Given the description of an element on the screen output the (x, y) to click on. 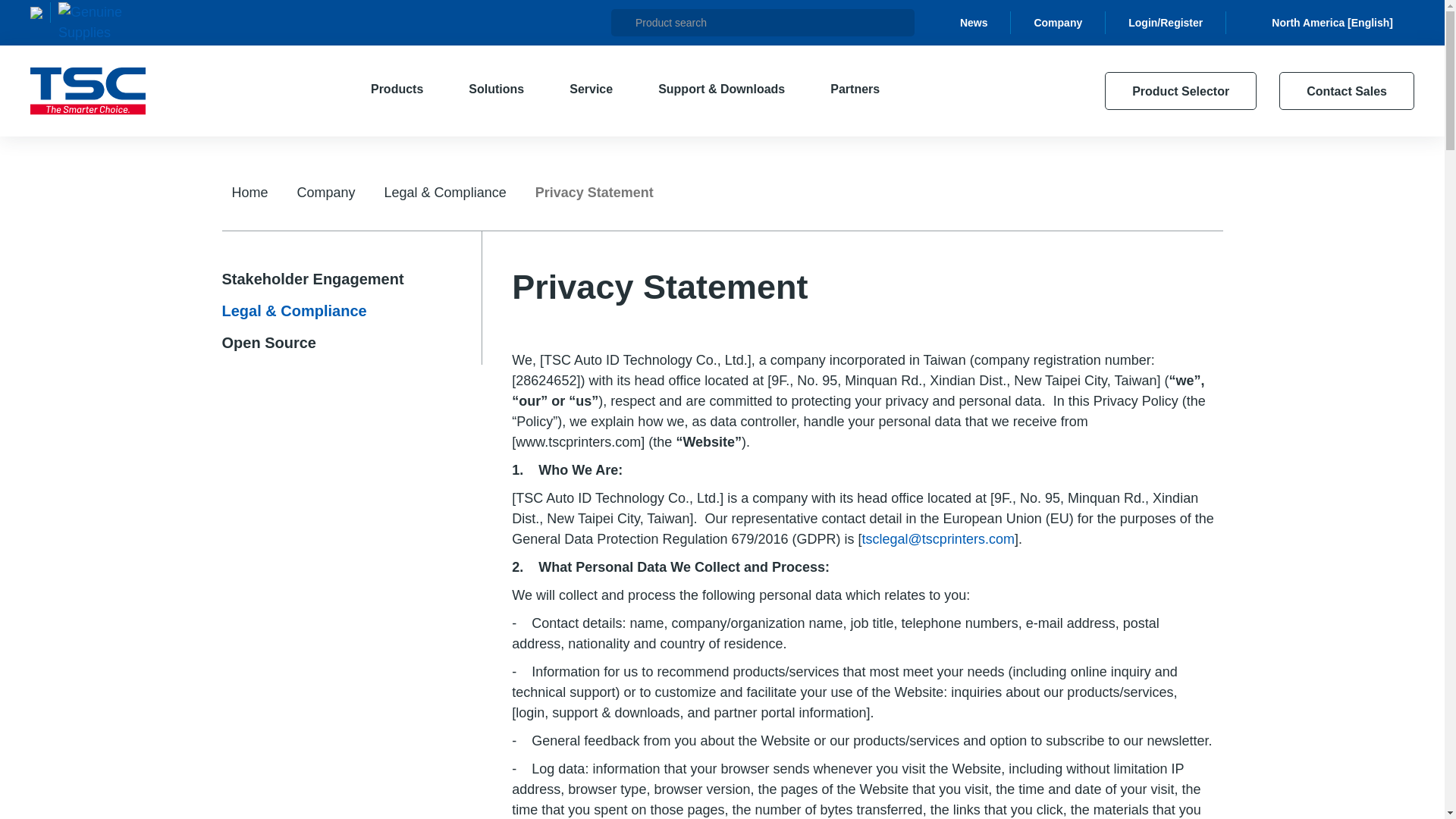
Company (1069, 22)
Genuine Supplies (90, 22)
Search (624, 22)
Home (87, 90)
Printronix Auto ID Enterprise Printers (40, 12)
News (985, 22)
